Given the description of an element on the screen output the (x, y) to click on. 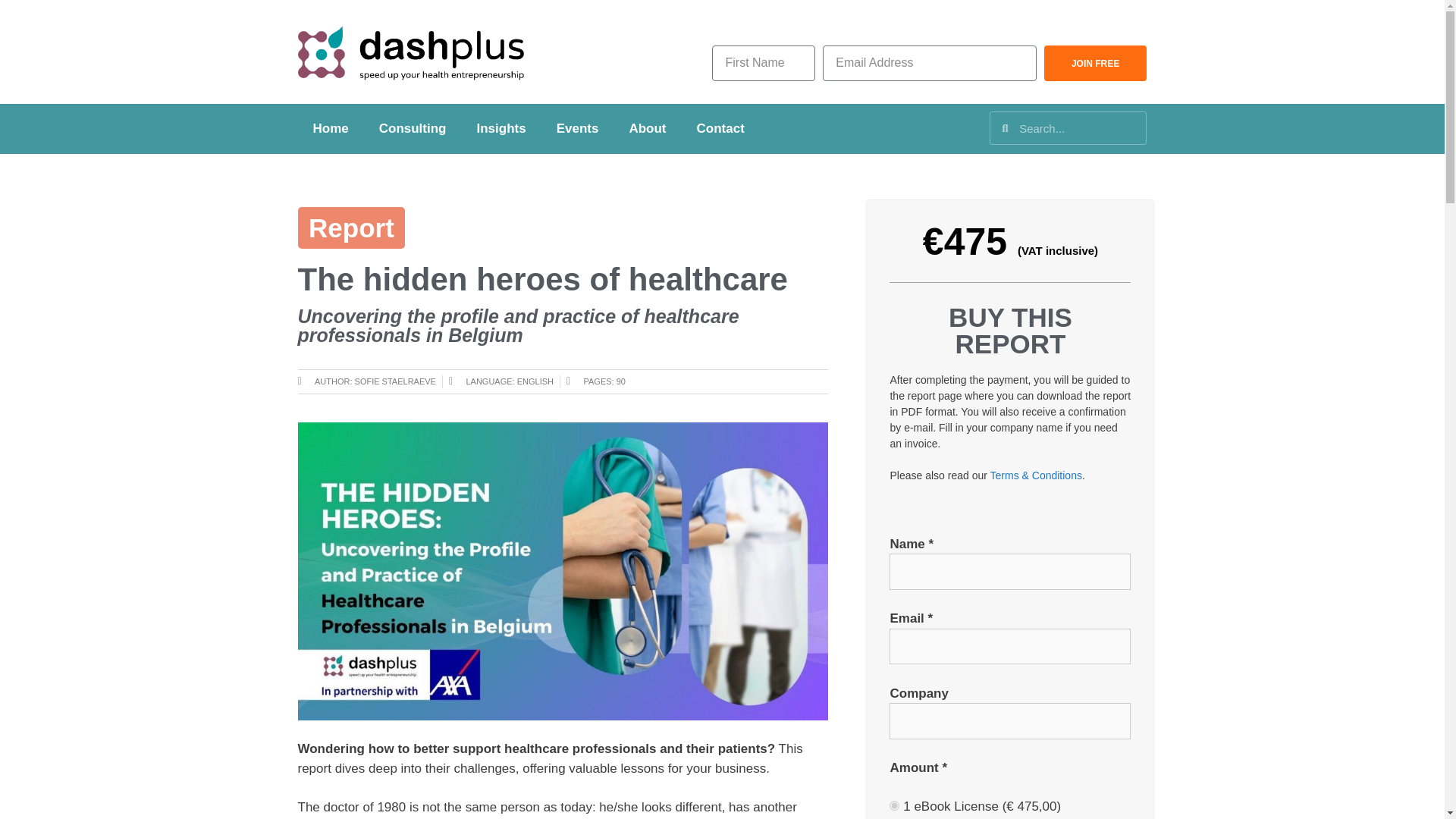
Home (329, 128)
JOIN FREE (1095, 63)
Consulting (412, 128)
Contact (720, 128)
7 (894, 805)
Events (577, 128)
Insights (500, 128)
About (646, 128)
